Given the description of an element on the screen output the (x, y) to click on. 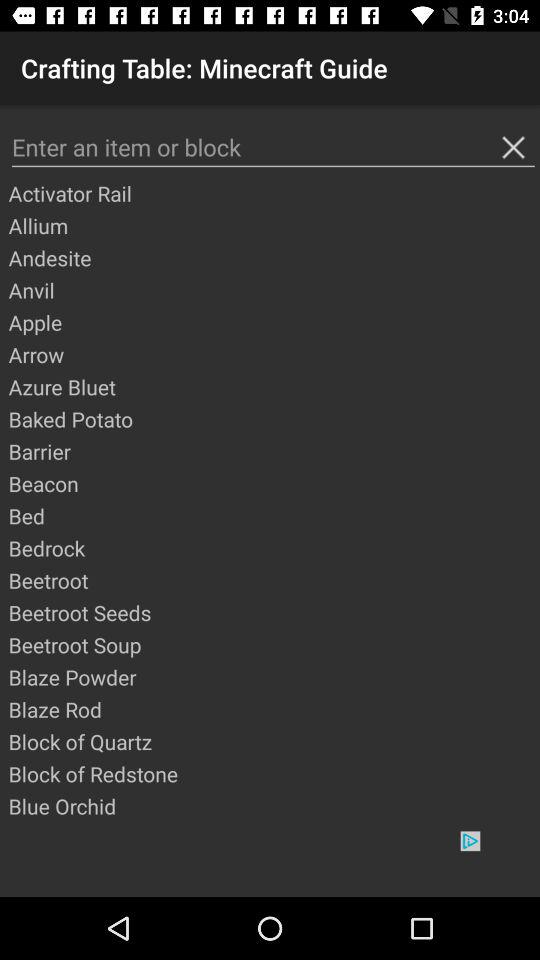
tap the item below the beetroot seeds (273, 644)
